Given the description of an element on the screen output the (x, y) to click on. 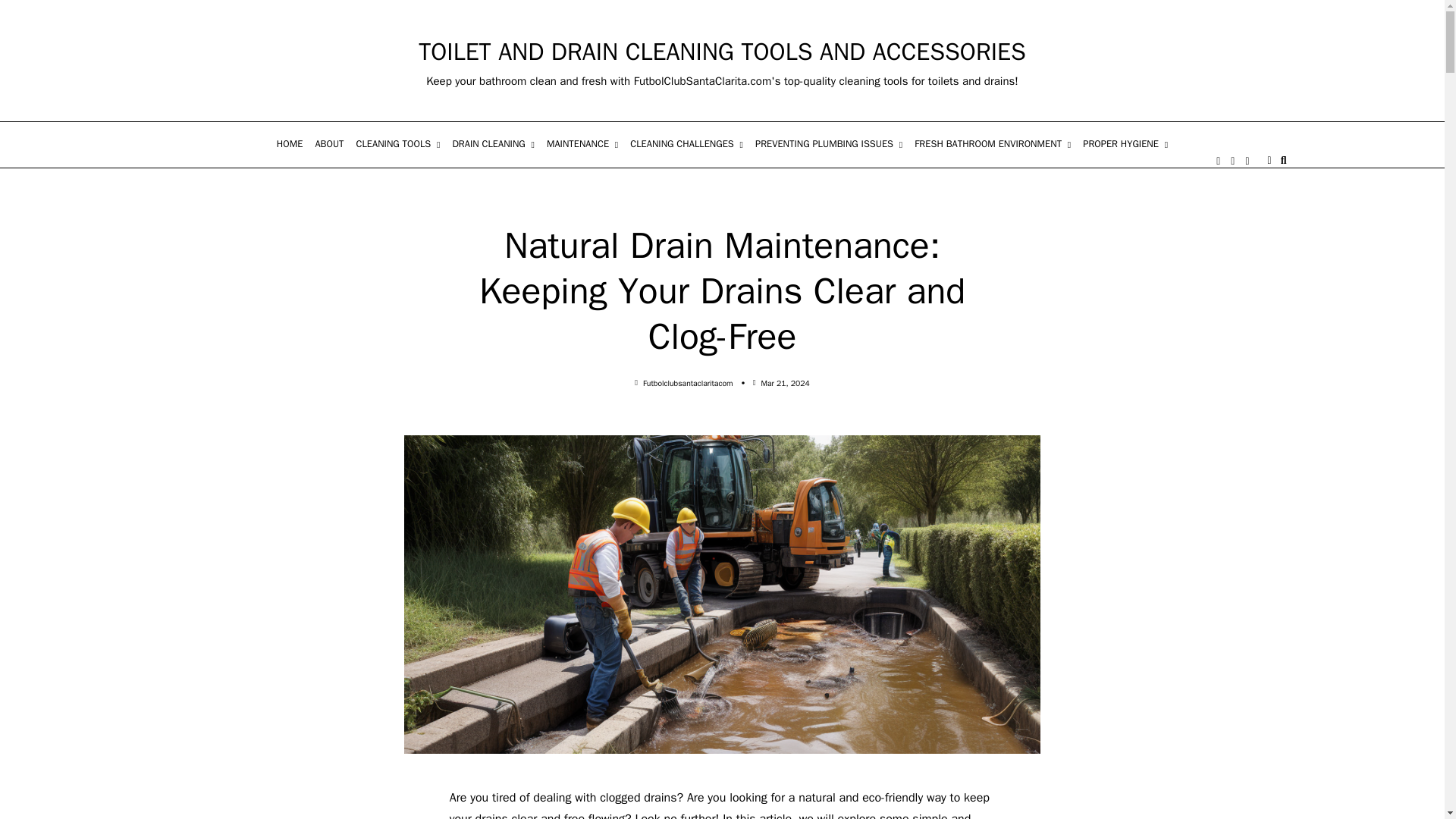
CLEANING TOOLS (398, 144)
ABOUT (328, 144)
PREVENTING PLUMBING ISSUES (828, 144)
HOME (289, 144)
CLEANING CHALLENGES (686, 144)
PROPER HYGIENE (1125, 144)
MAINTENANCE (582, 144)
TOILET AND DRAIN CLEANING TOOLS AND ACCESSORIES (722, 51)
FRESH BATHROOM ENVIRONMENT (992, 144)
DRAIN CLEANING (492, 144)
